Given the description of an element on the screen output the (x, y) to click on. 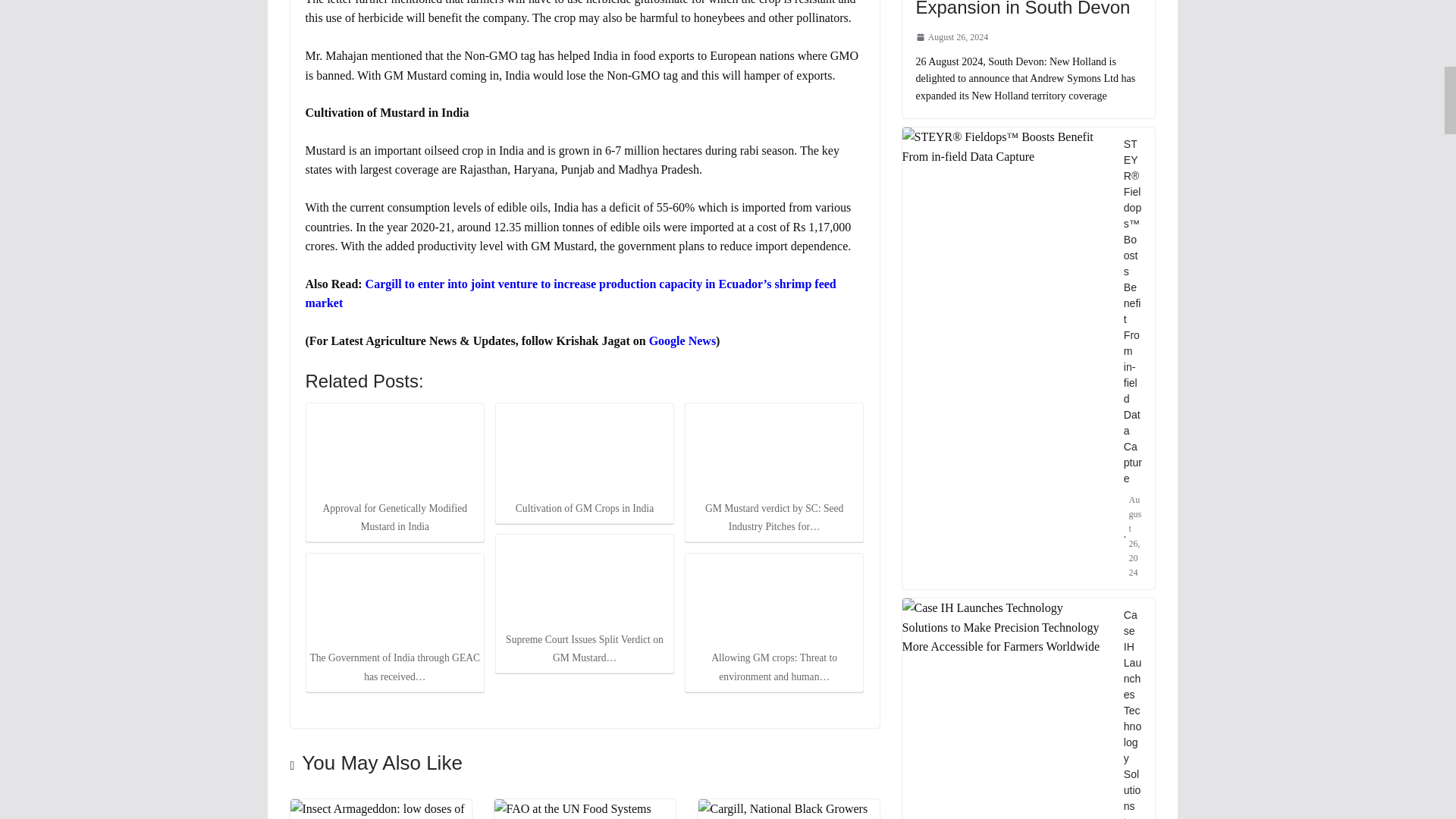
Approval for Genetically Modified Mustard in India (394, 450)
Cultivation of GM Crops in India (584, 450)
